Given the description of an element on the screen output the (x, y) to click on. 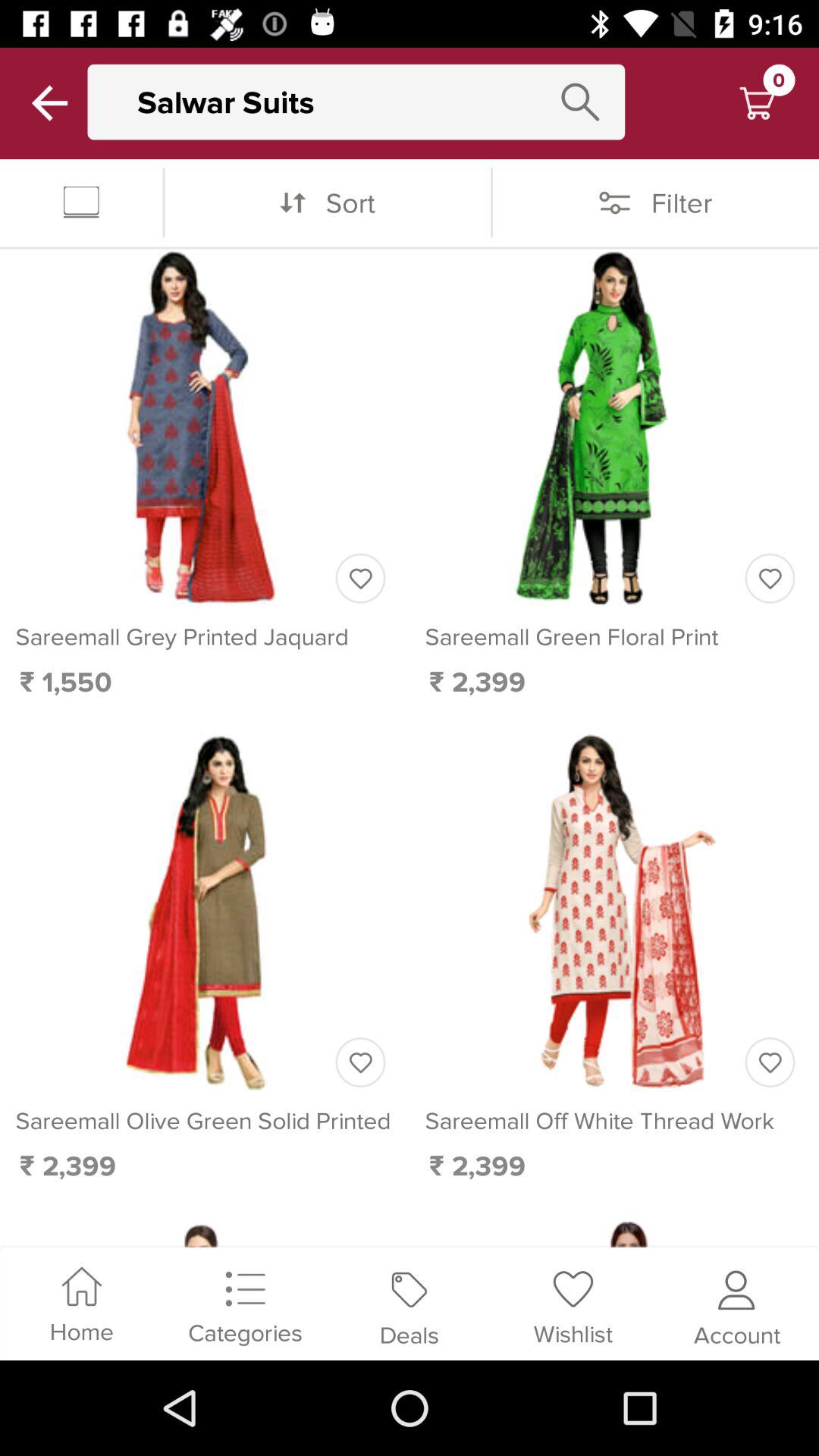
mark as favorite (360, 578)
